Given the description of an element on the screen output the (x, y) to click on. 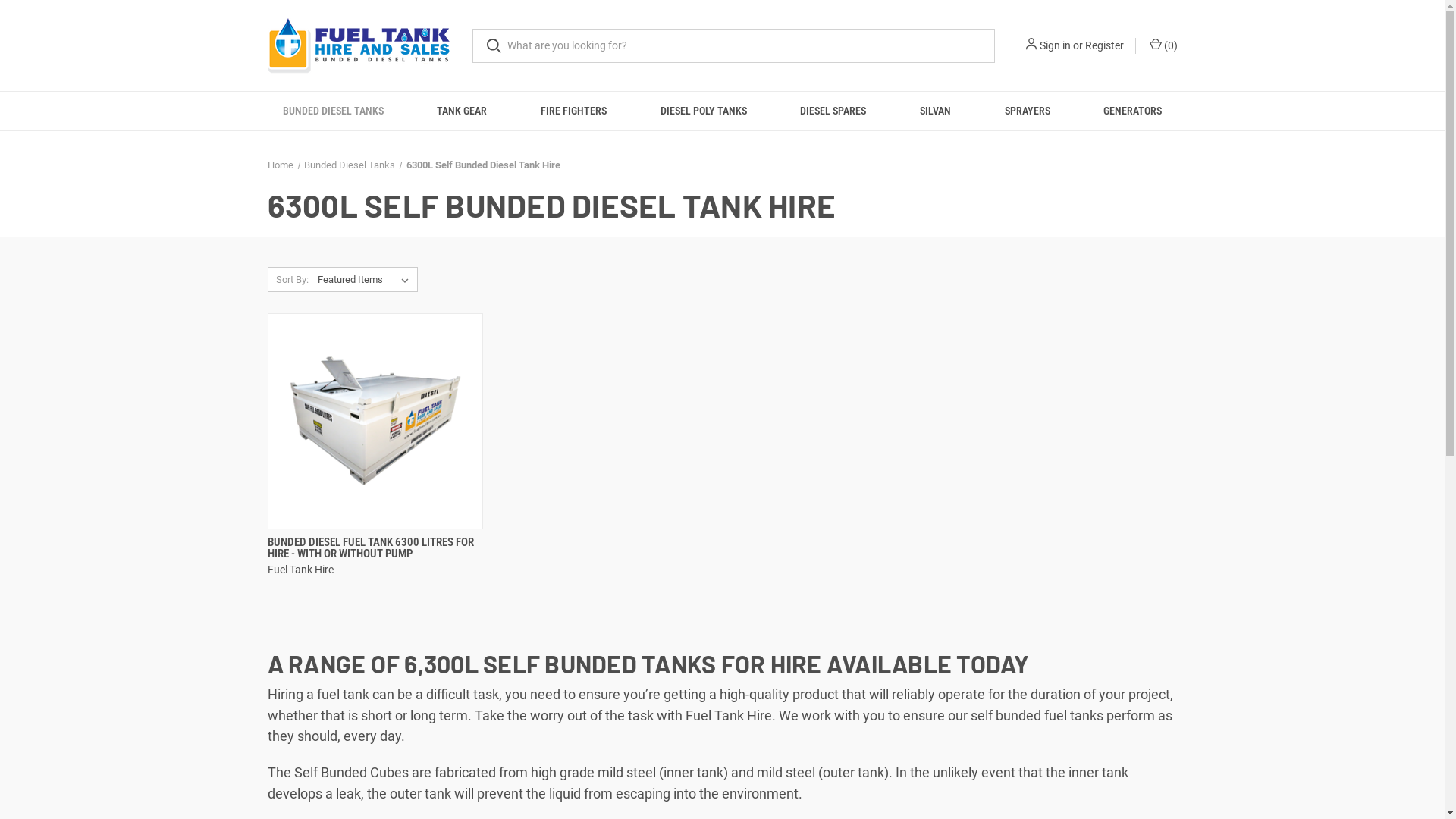
BUNDED DIESEL TANKS Element type: text (333, 110)
SILVAN Element type: text (935, 110)
Home Element type: text (279, 164)
DIESEL SPARES Element type: text (833, 110)
SPRAYERS Element type: text (1026, 110)
DIESEL POLY TANKS Element type: text (703, 110)
(0) Element type: text (1161, 45)
QUICK VIEW Element type: text (371, 539)
GENERATORS Element type: text (1132, 110)
Sign in Element type: text (1054, 45)
FIRE FIGHTERS Element type: text (573, 110)
6300L Self Bunded Diesel Tank Hire Element type: text (483, 164)
TANK GEAR Element type: text (462, 110)
Bunded Diesel Tanks Element type: text (349, 164)
Fuel Tank Hire and Sales Element type: hover (357, 45)
Register Element type: text (1103, 45)
